Given the description of an element on the screen output the (x, y) to click on. 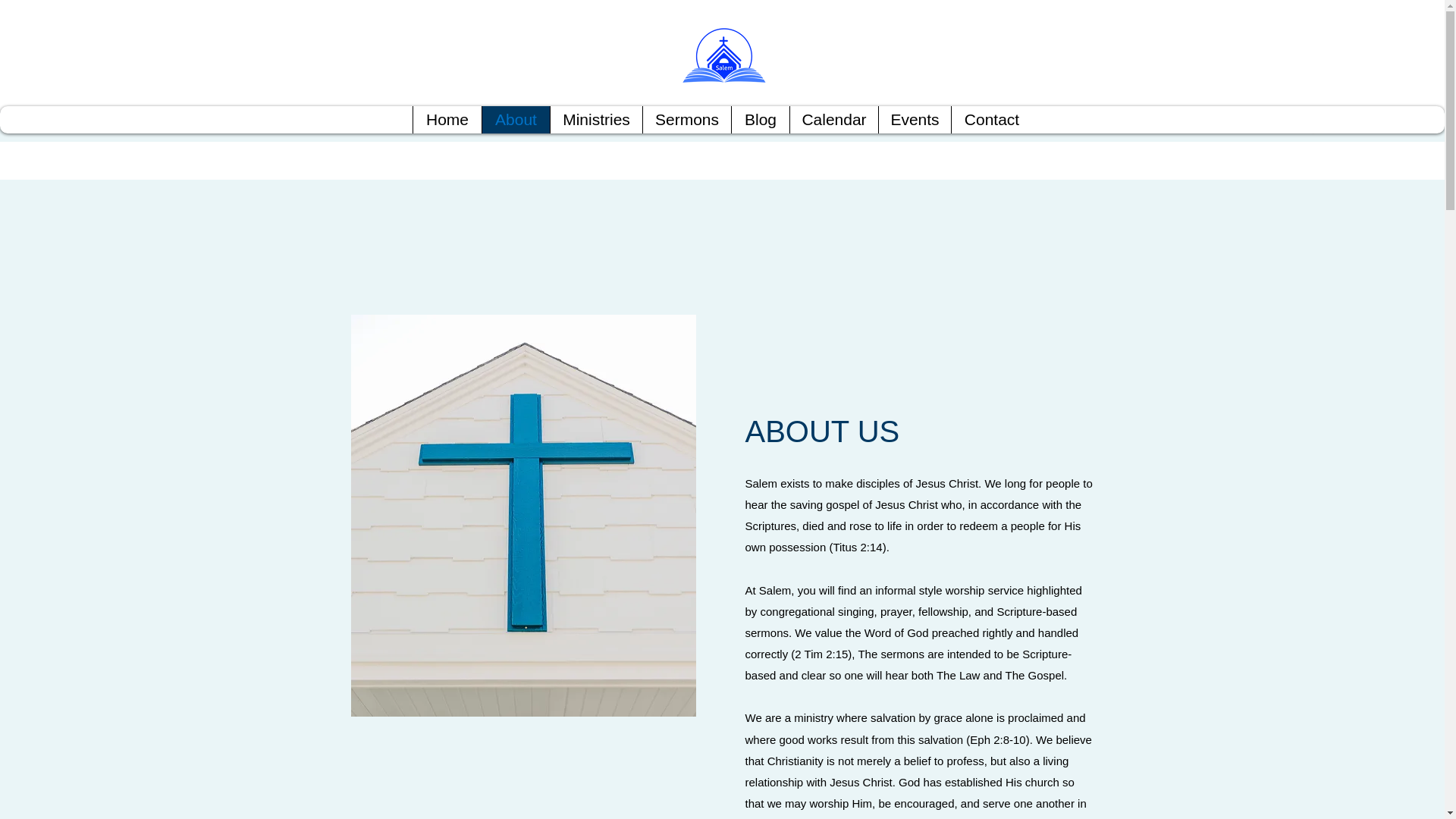
About (515, 119)
Blog (759, 119)
Calendar (833, 119)
Events (913, 119)
Contact (991, 119)
Ministries (596, 119)
Home (446, 119)
Sermons (686, 119)
